Given the description of an element on the screen output the (x, y) to click on. 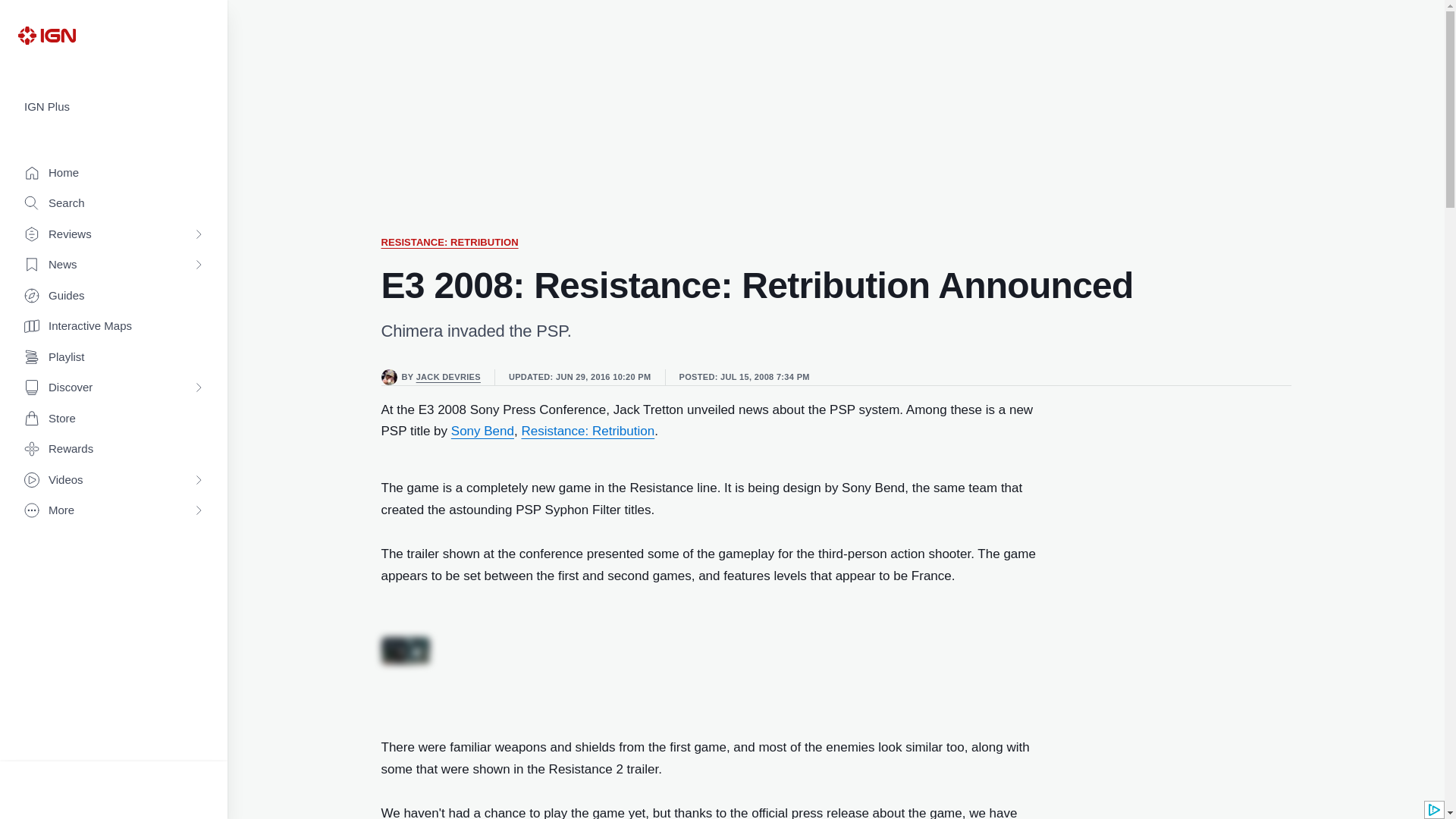
Rewards (113, 449)
IGN Plus (113, 107)
Store (113, 418)
Reviews (113, 234)
Playlist (113, 357)
Store (113, 418)
IGN Plus (113, 107)
Discover (113, 387)
Discover (113, 387)
Search (113, 203)
Videos (113, 480)
IGN Logo (46, 35)
News (113, 265)
Reviews (113, 234)
Guides (113, 295)
